Given the description of an element on the screen output the (x, y) to click on. 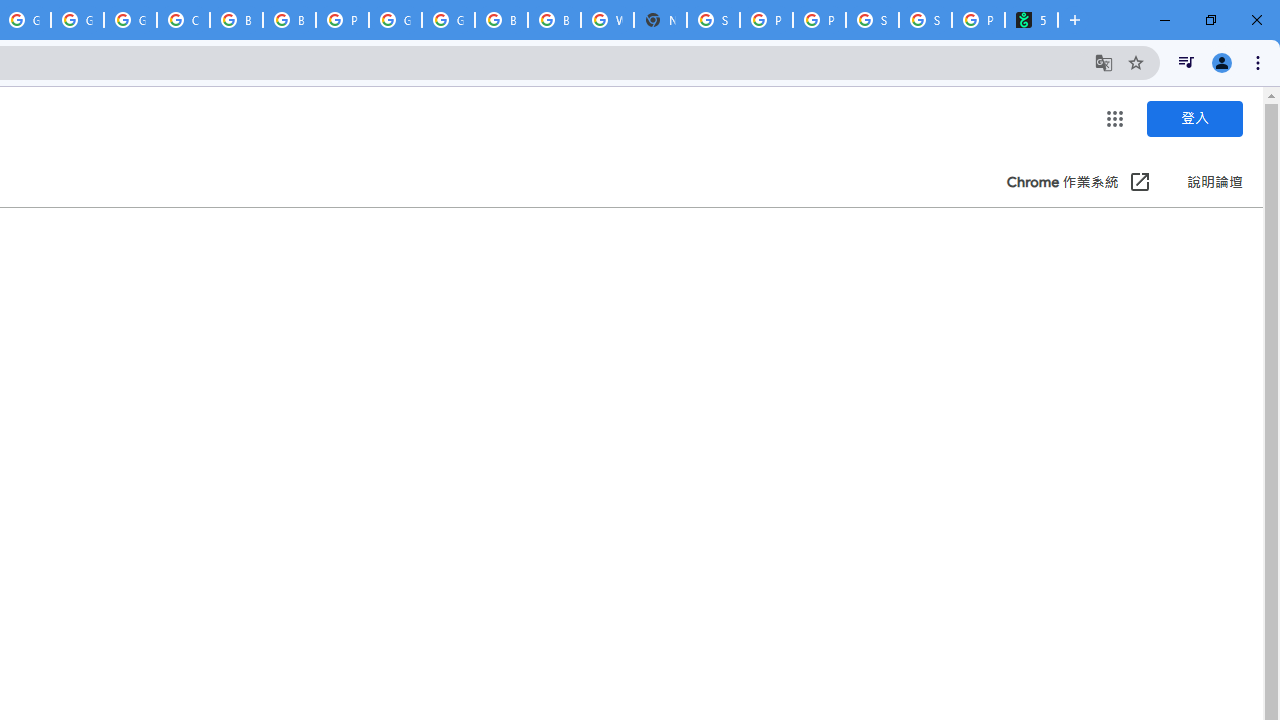
New Tab (660, 20)
Browse Chrome as a guest - Computer - Google Chrome Help (289, 20)
Control your music, videos, and more (1185, 62)
Google Cloud Platform (448, 20)
